Given the description of an element on the screen output the (x, y) to click on. 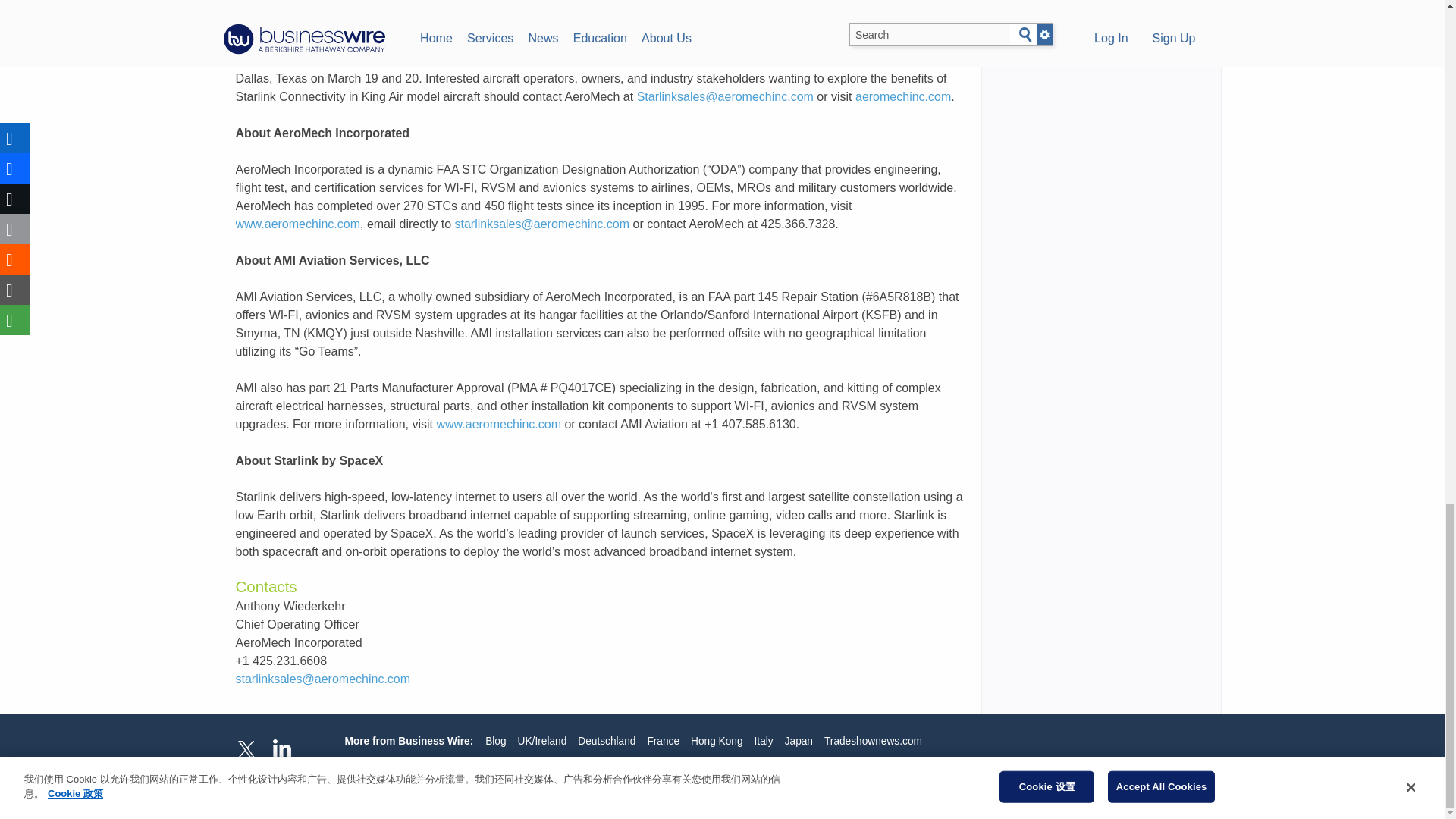
www.aeromechinc.com (296, 223)
aeromechinc.com (903, 96)
www.aeromechinc.com (499, 423)
